Given the description of an element on the screen output the (x, y) to click on. 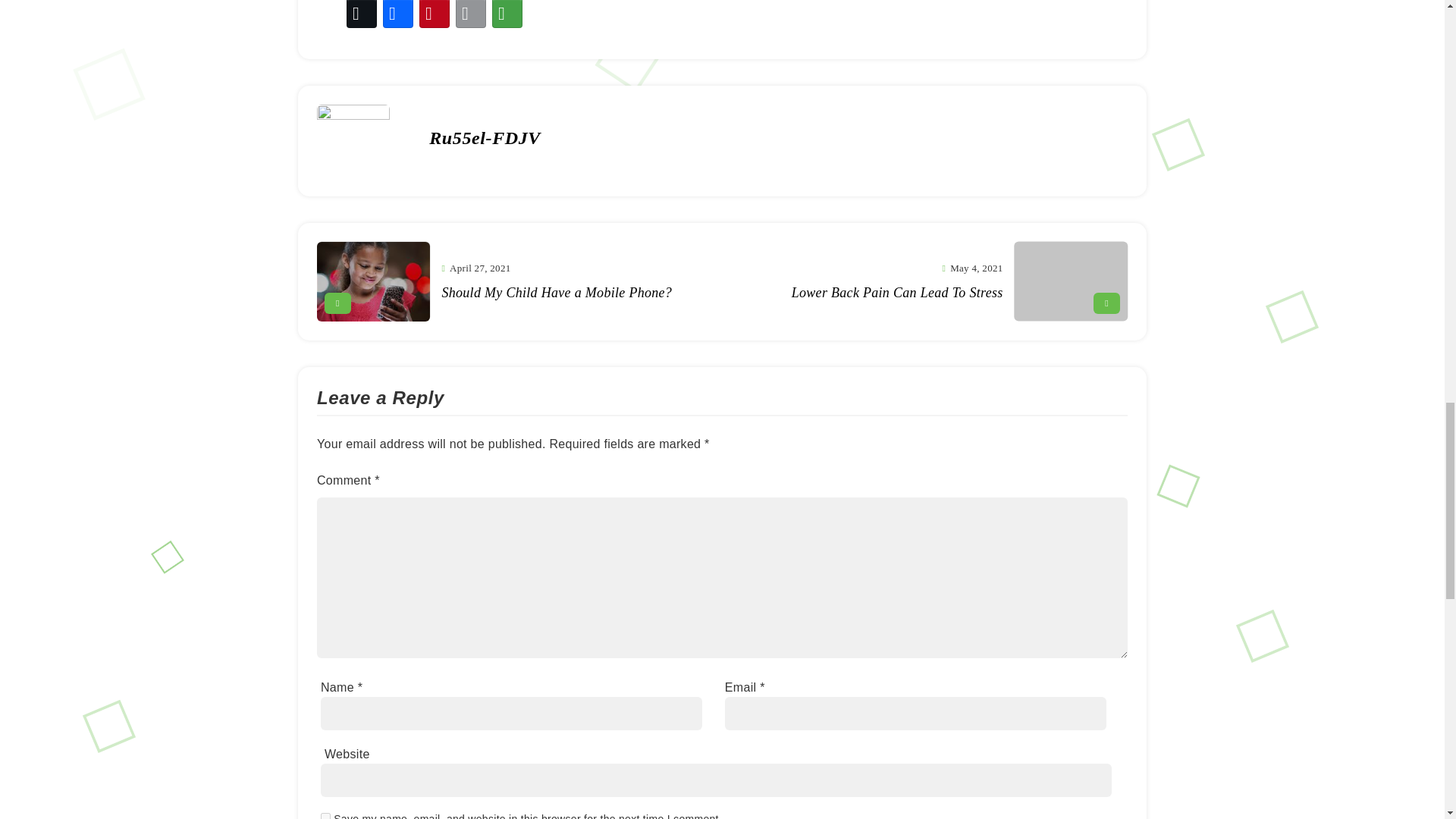
Facebook (398, 15)
More Options (507, 15)
Email This (470, 15)
yes (325, 816)
Pinterest (434, 15)
